Given the description of an element on the screen output the (x, y) to click on. 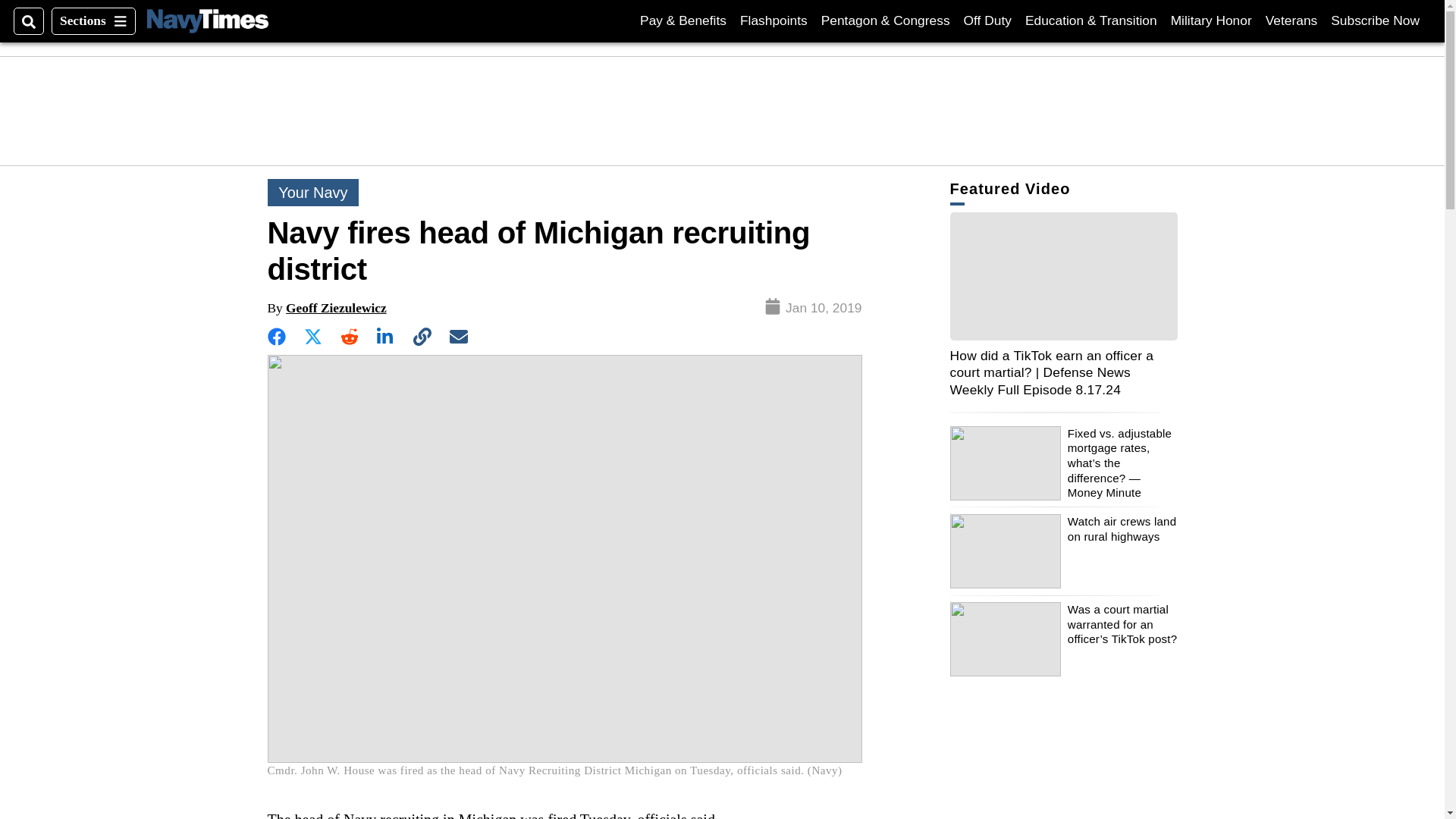
Military Honor (1211, 20)
Flashpoints (773, 20)
Sections (92, 21)
Veterans (1291, 20)
Navy Times Logo (1374, 20)
Off Duty (207, 20)
